Given the description of an element on the screen output the (x, y) to click on. 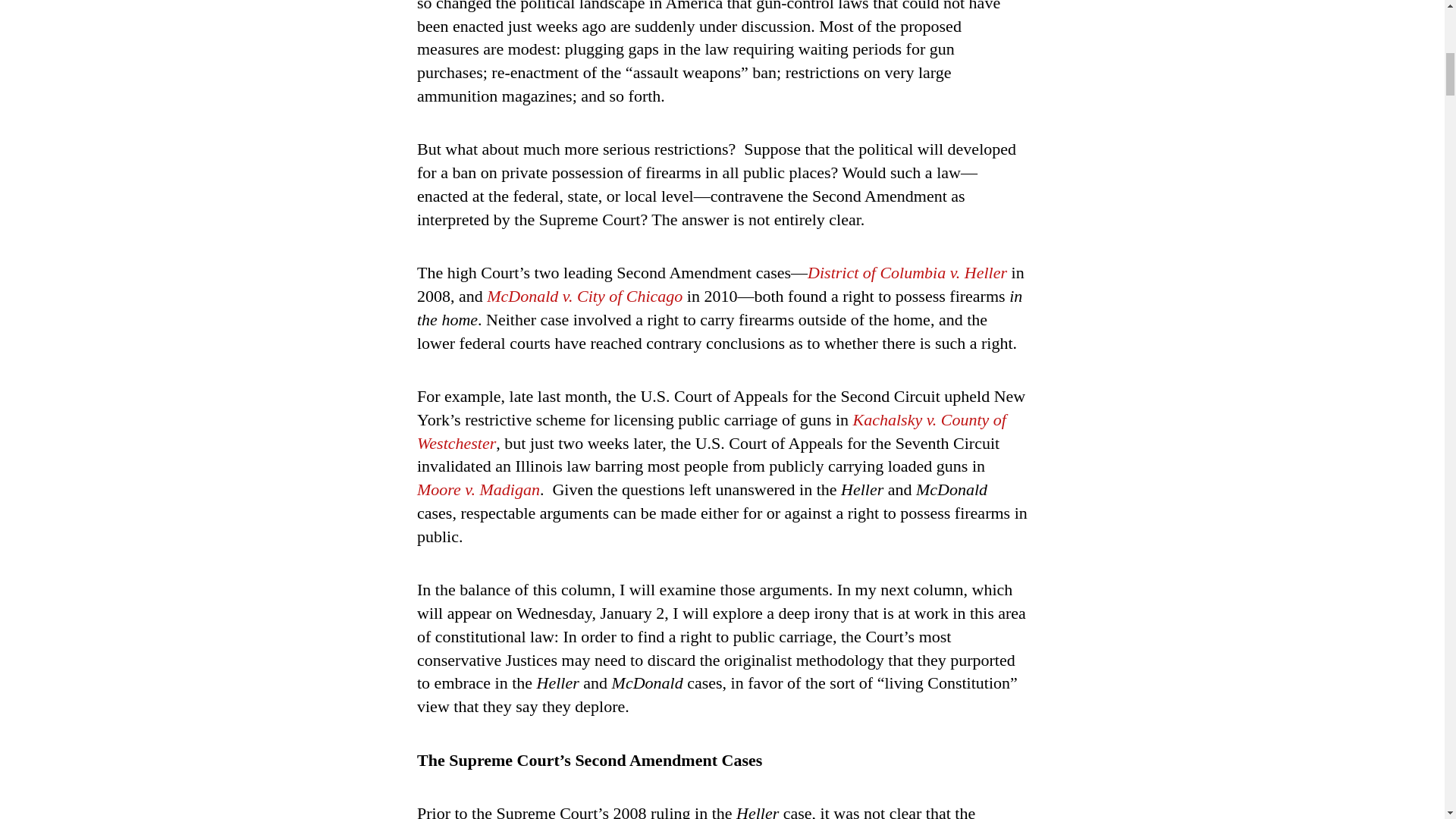
McDonald v. City of Chicago (584, 295)
Moore v. Madigan (478, 488)
Kachalsky v. County of Westchester (711, 431)
District of Columbia v. Heller (907, 271)
